Given the description of an element on the screen output the (x, y) to click on. 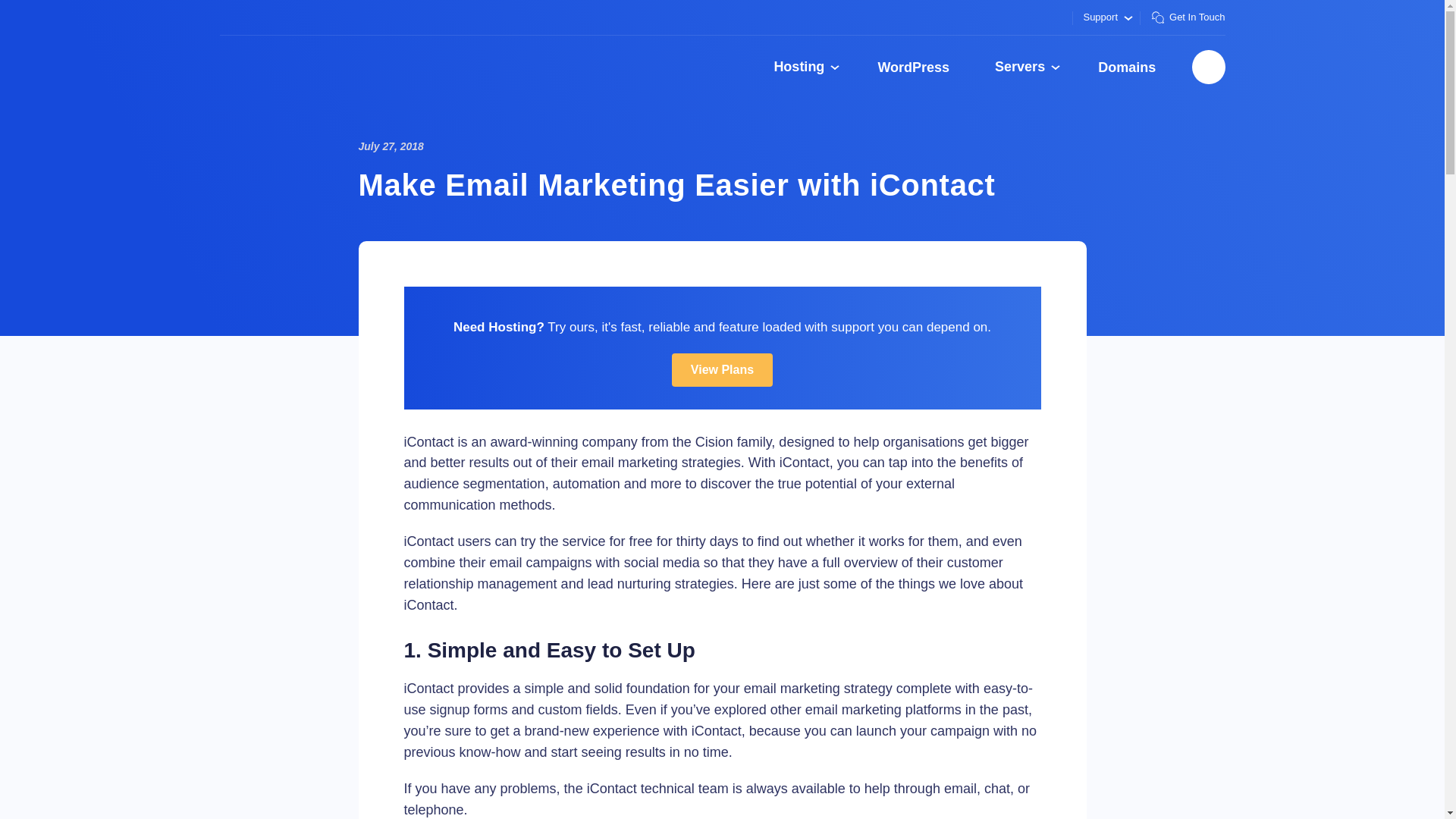
Get In Touch (1182, 17)
View Plans (722, 369)
WordPress (913, 67)
Domains (1126, 67)
Support (1106, 17)
iContact (803, 462)
